Given the description of an element on the screen output the (x, y) to click on. 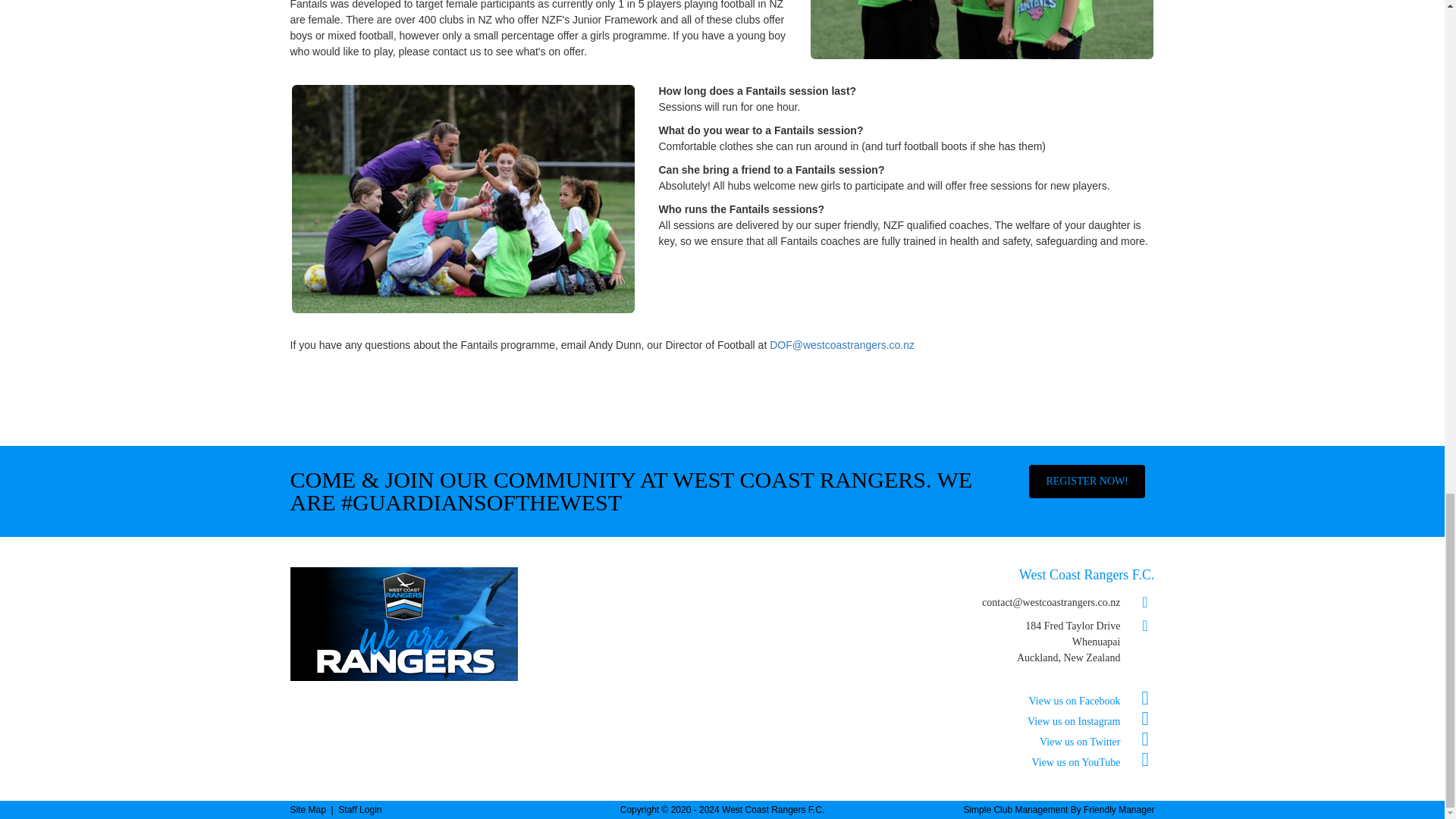
Login to West Coast Rangers F.C. (359, 809)
View the Site Map for West Coast Rangers F.C. (306, 809)
View us on Twitter (1096, 741)
View us on YouTube (1093, 762)
View us on Instagram (1090, 721)
View us on Facebook (1091, 700)
